Given the description of an element on the screen output the (x, y) to click on. 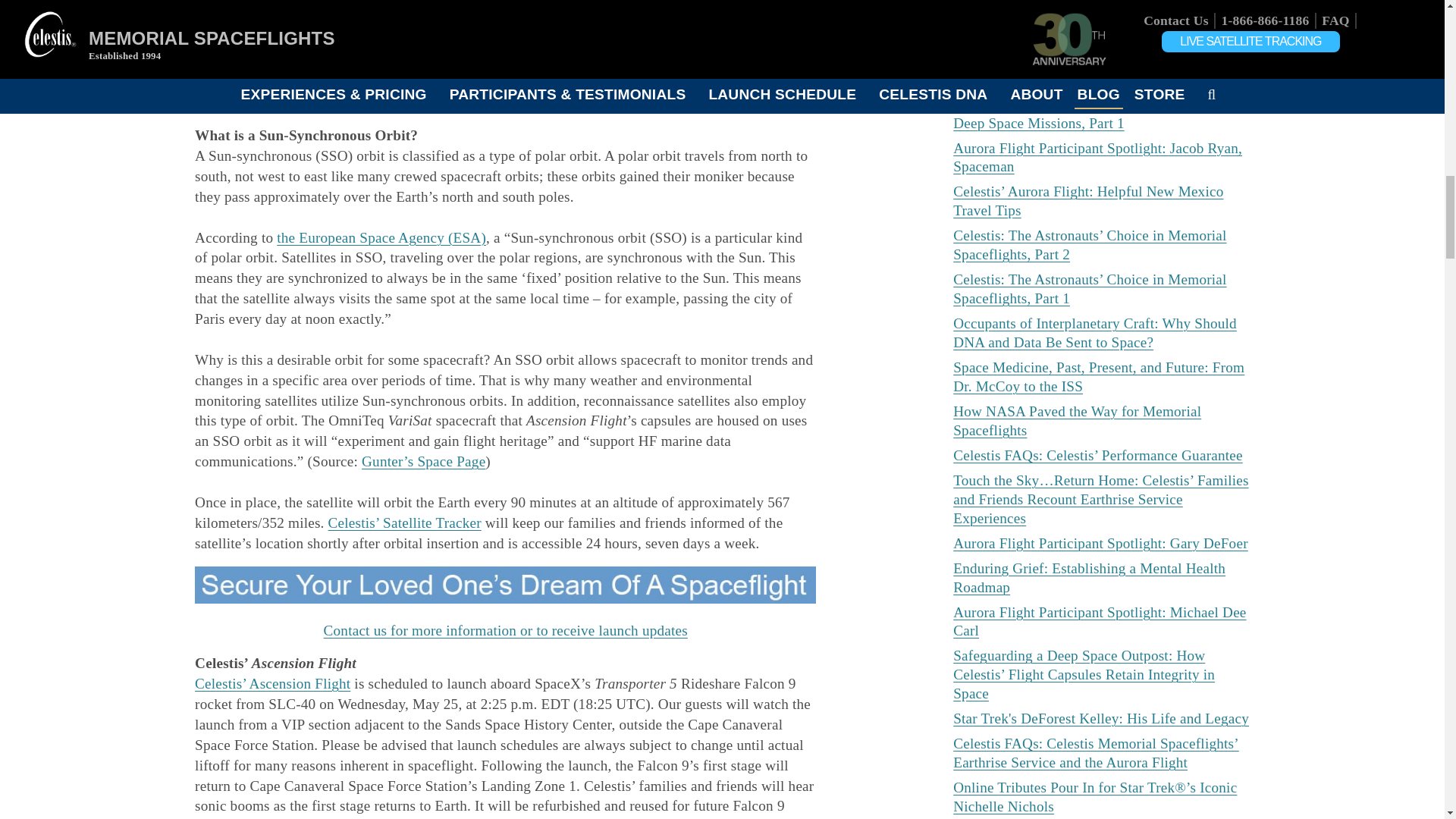
Ascension Flight (335, 33)
VariSat 1A, 1B, 1C - Gunter's Space Page (422, 461)
Contact us for more information or to receive launch updates (505, 630)
ESA - Polar and Sun-synchronous orbit (381, 237)
